Given the description of an element on the screen output the (x, y) to click on. 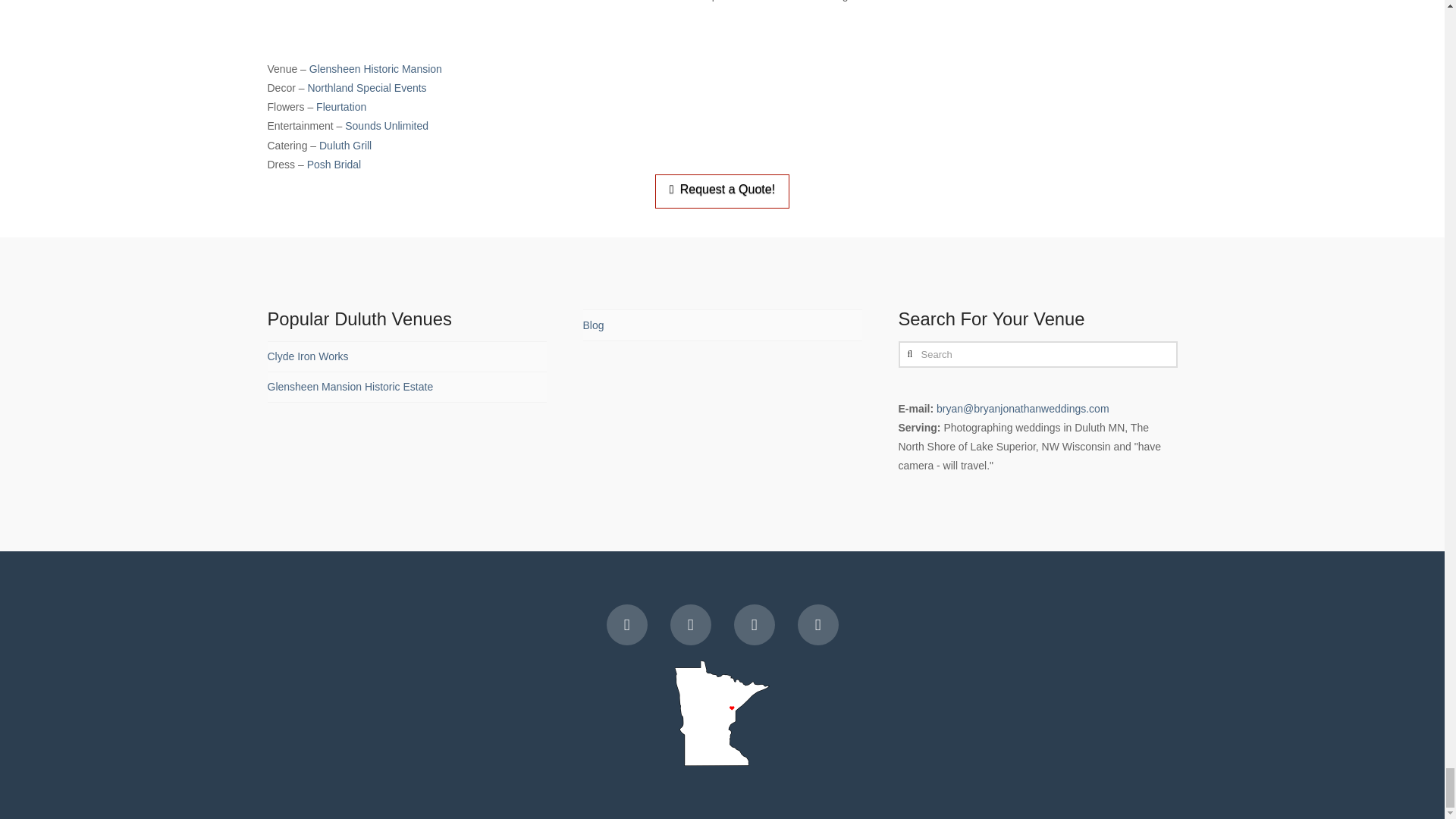
Duluth Grill (344, 145)
Glensheen Historic Mansion (375, 69)
Northland Special Events (366, 87)
Instagram (753, 624)
Posh Bridal (334, 164)
Vimeo (690, 624)
Sounds Unlimited (386, 125)
Fleurtation by Northland Special Events (340, 106)
Facebook (627, 624)
Posh Bridal (334, 164)
Sounds Unlimited Entertainment (386, 125)
Pinterest (817, 624)
Catering by Duluth Grill (344, 145)
Northland Special Events (366, 87)
Glensheen Historic Mansion Weddings in Duluth, MN (375, 69)
